Given the description of an element on the screen output the (x, y) to click on. 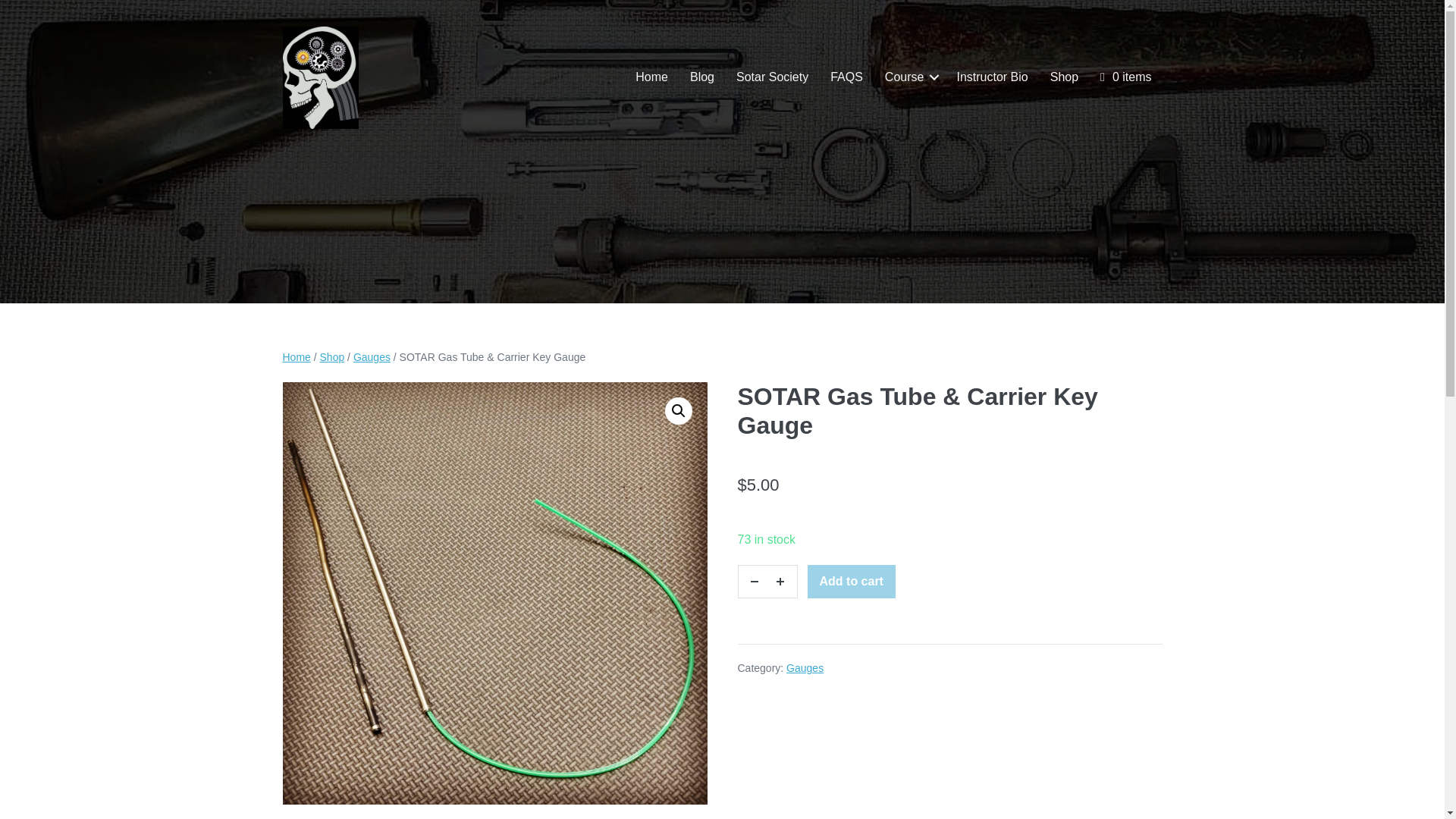
FAQS (846, 77)
Instructor Bio (991, 77)
0 items (1125, 77)
Sotar Society (771, 77)
Gauges (805, 667)
Start shopping (1125, 77)
Increase quantity (780, 581)
Home (651, 77)
Course (909, 77)
Shop (332, 357)
Shop (1064, 77)
Blog (702, 77)
Home (296, 357)
Decrease quantity (753, 581)
Gauges (371, 357)
